Given the description of an element on the screen output the (x, y) to click on. 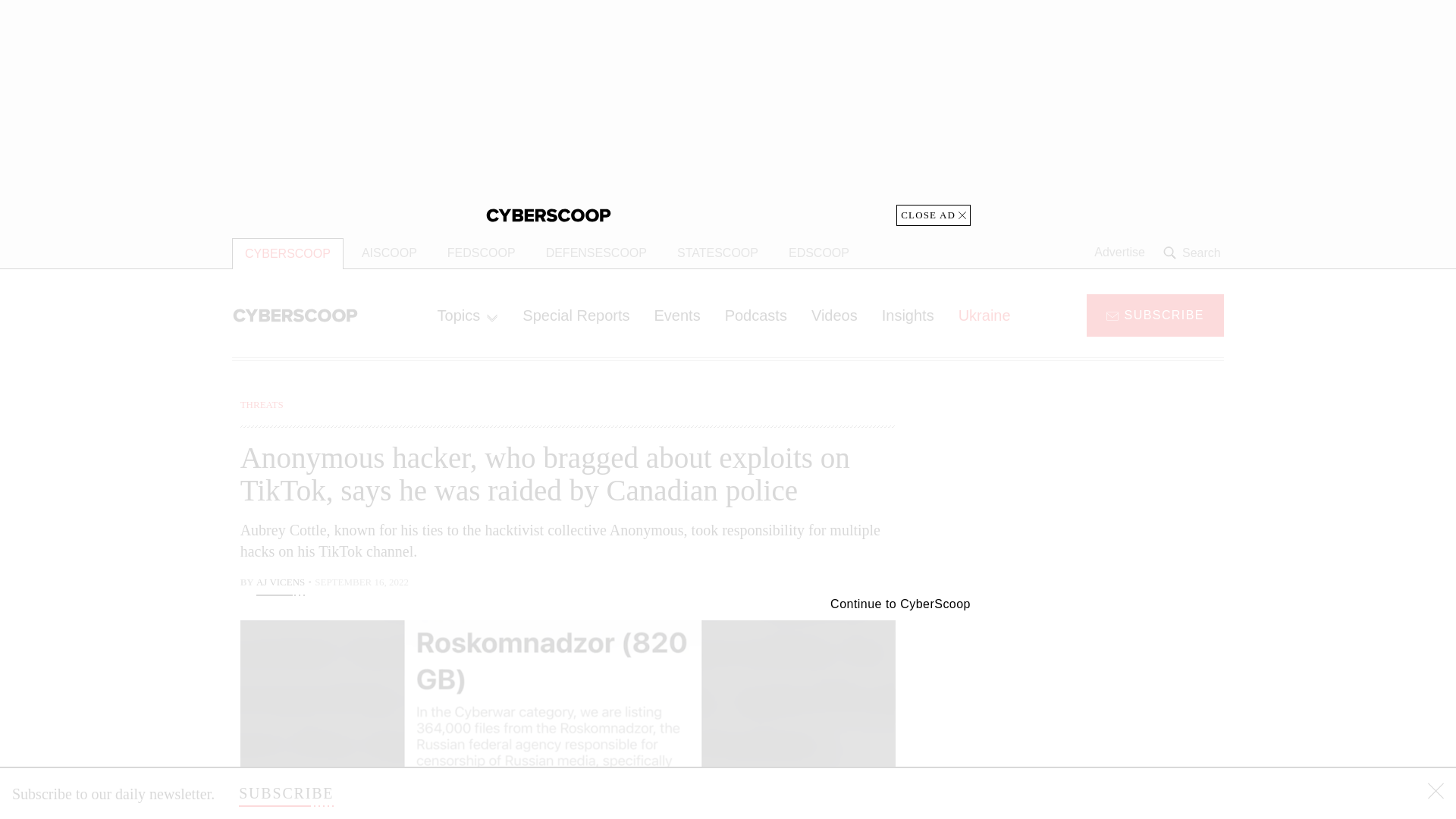
STATESCOOP (717, 253)
Ukraine (984, 315)
Special Reports (576, 315)
CYBERSCOOP (287, 253)
Events (676, 315)
Podcasts (756, 315)
Advertise (1119, 252)
AJ Vicens (280, 583)
DEFENSESCOOP (596, 253)
3rd party ad content (1101, 492)
Insights (907, 315)
EDSCOOP (818, 253)
